Given the description of an element on the screen output the (x, y) to click on. 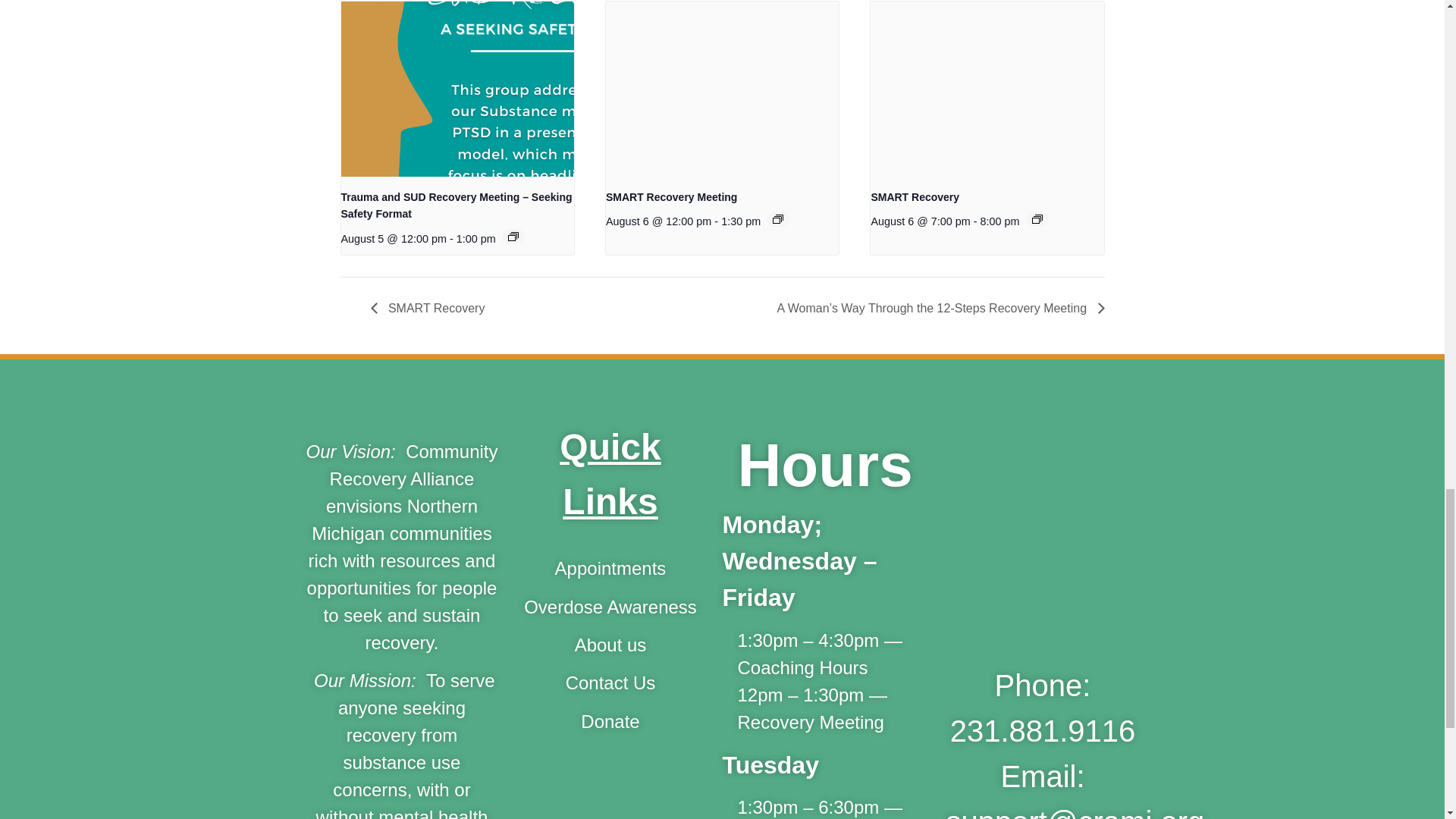
Event Series (778, 218)
Event Series (513, 235)
Event Series (1037, 218)
